Given the description of an element on the screen output the (x, y) to click on. 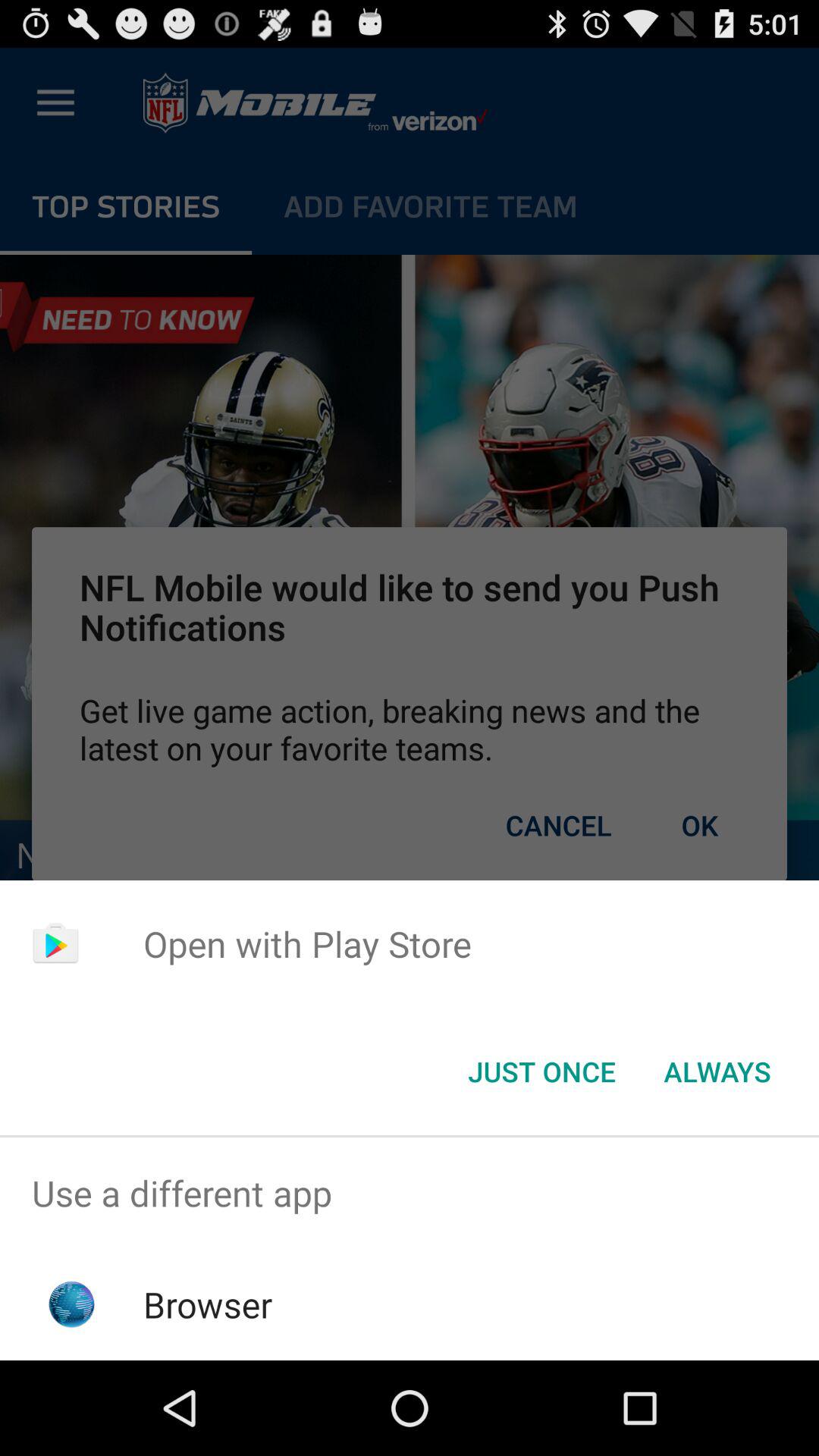
click the always icon (717, 1071)
